Given the description of an element on the screen output the (x, y) to click on. 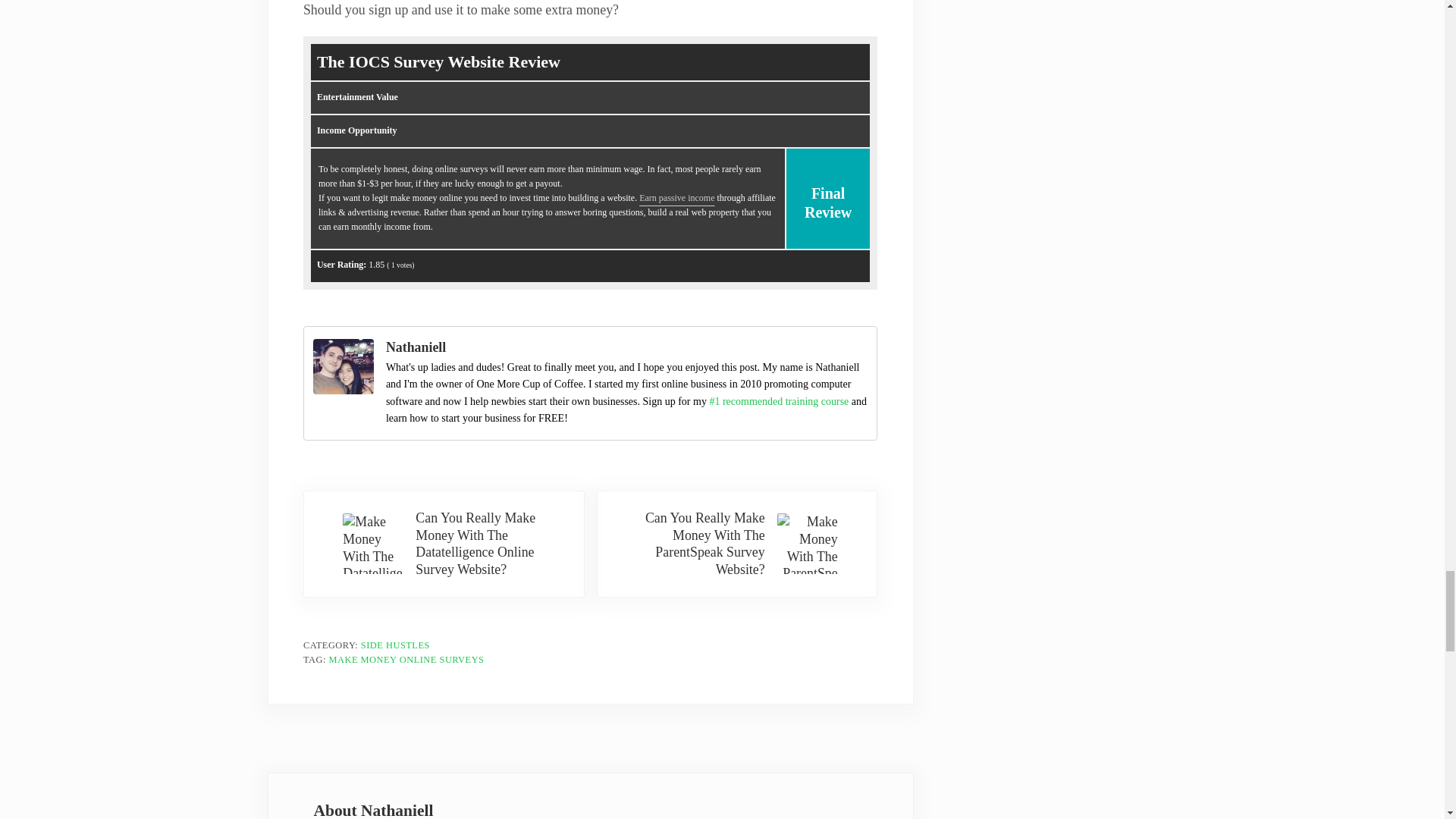
MAKE MONEY ONLINE SURVEYS (406, 659)
Final Review (827, 167)
SIDE HUSTLES (395, 644)
Earn passive income (676, 197)
